Given the description of an element on the screen output the (x, y) to click on. 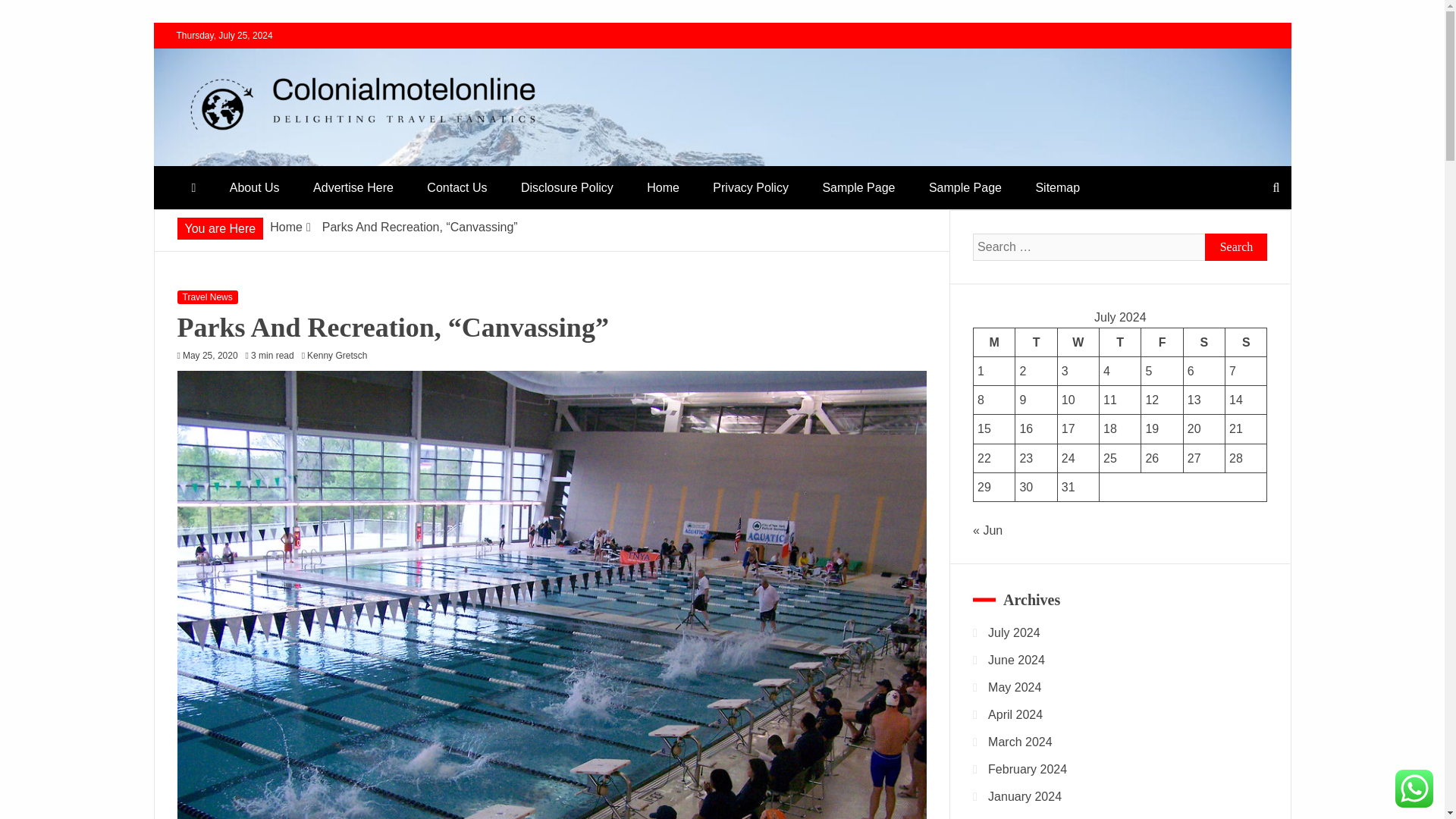
Disclosure Policy (566, 186)
About Us (254, 186)
Search (1235, 247)
Wednesday (1078, 341)
Saturday (1203, 341)
Privacy Policy (750, 186)
Search (31, 13)
Advertise Here (353, 186)
Sunday (1245, 341)
Tuesday (1035, 341)
Kenny Gretsch (340, 355)
Colonialmotelonline (293, 159)
Travel News (207, 296)
Sitemap (1057, 186)
